Given the description of an element on the screen output the (x, y) to click on. 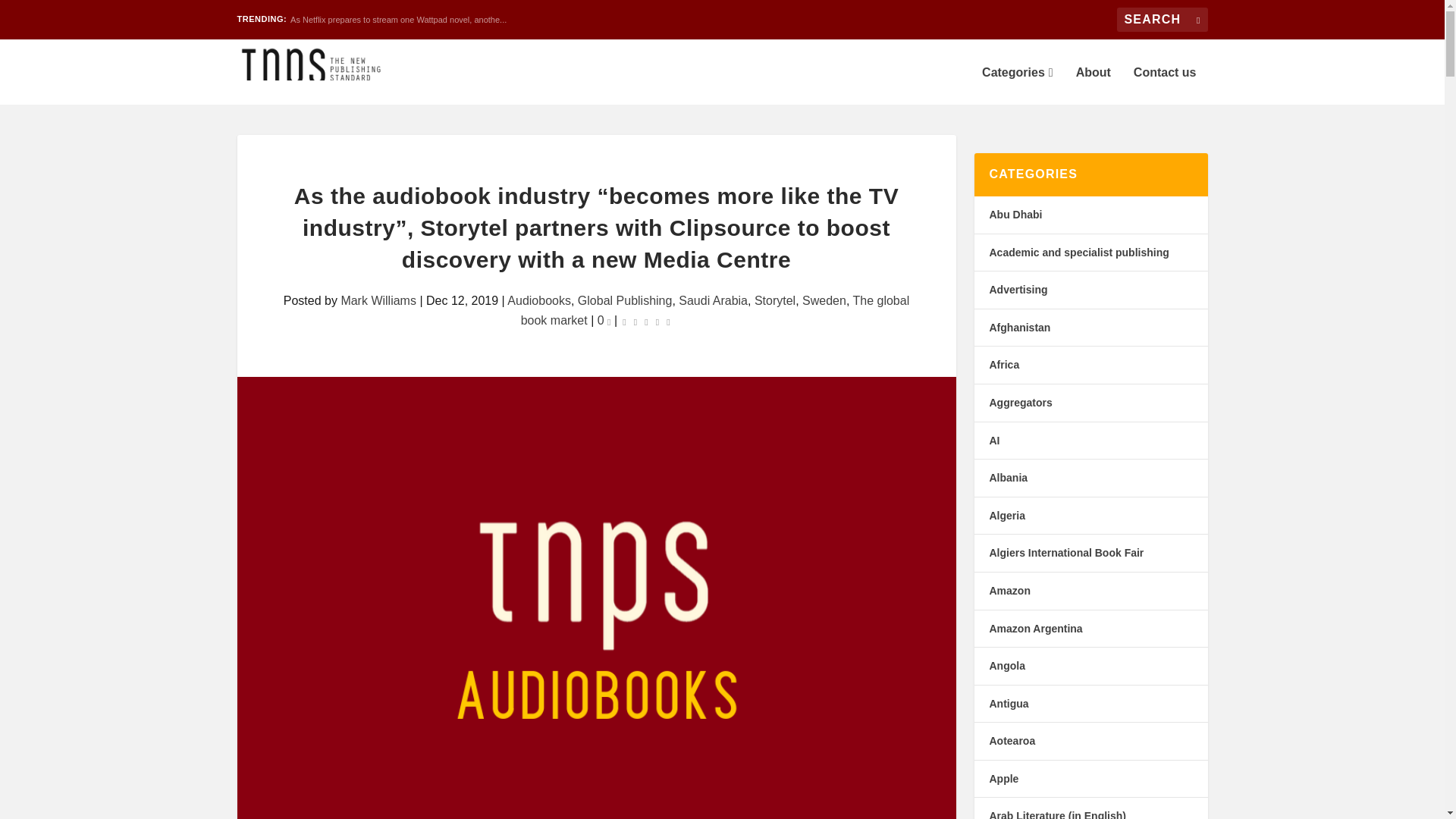
Posts by Mark Williams (378, 300)
Search for: (1161, 19)
Contact us (1165, 85)
About (1092, 85)
As Netflix prepares to stream one Wattpad novel, anothe... (397, 19)
Global Publishing (625, 300)
Storytel (774, 300)
Saudi Arabia (713, 300)
Audiobooks (538, 300)
Categories (1016, 85)
